Given the description of an element on the screen output the (x, y) to click on. 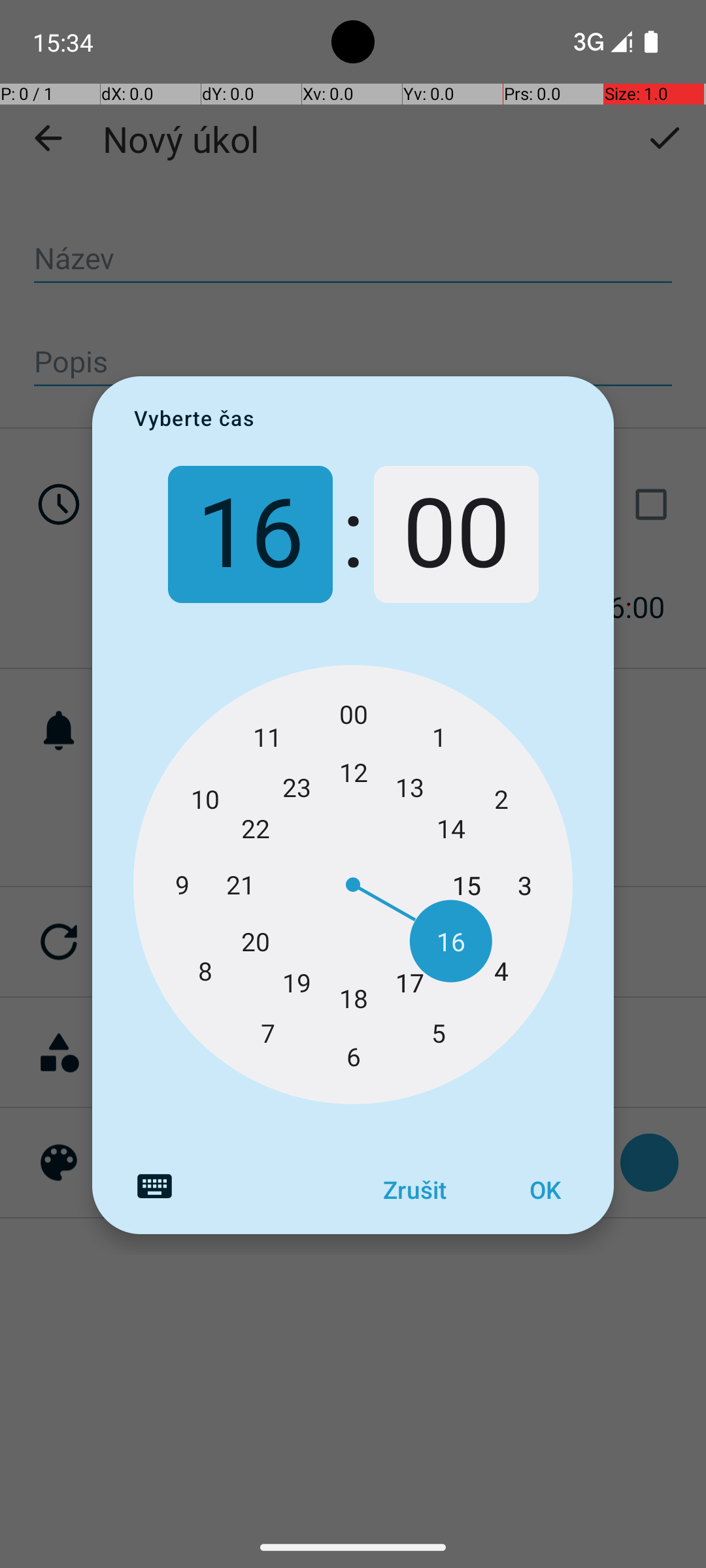
Chcete-li zadat čas, přepněte na režim textu. Element type: android.widget.Button (154, 1186)
Zrušit Element type: android.widget.Button (414, 1189)
